Given the description of an element on the screen output the (x, y) to click on. 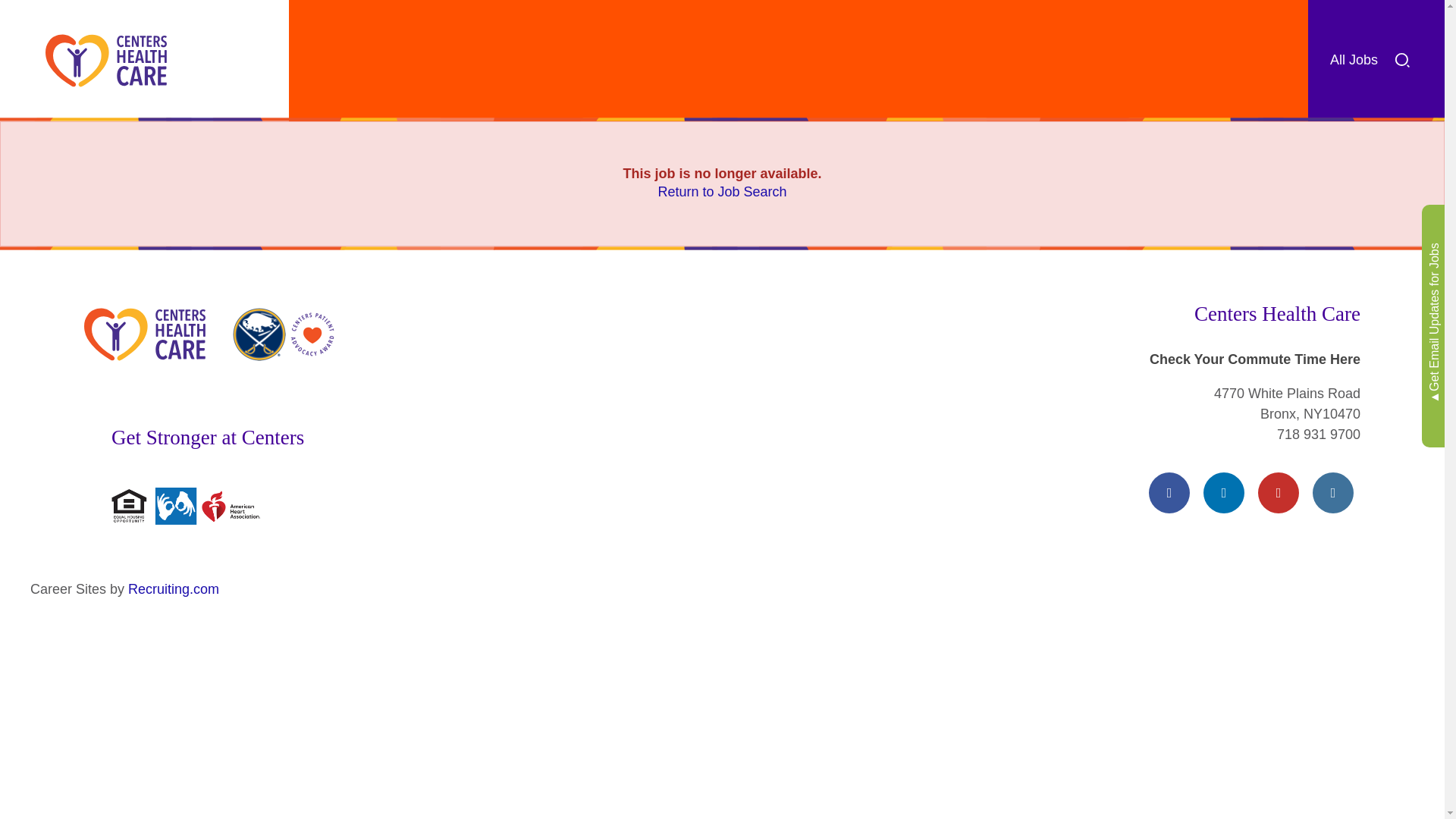
Centers Health Care (106, 60)
Centers Health Care (144, 333)
all jobs (1401, 60)
All Jobs (1376, 60)
